Given the description of an element on the screen output the (x, y) to click on. 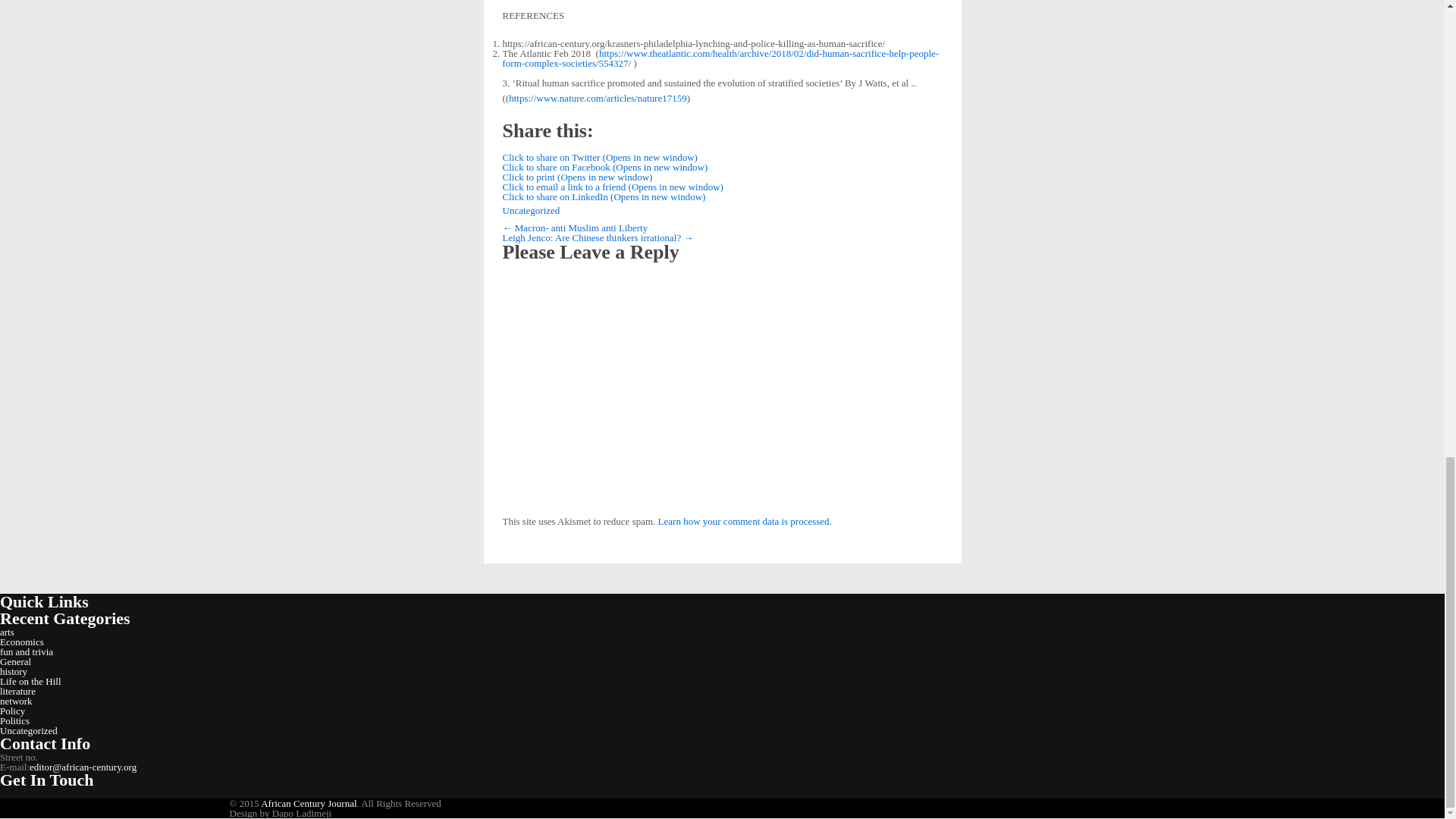
Click to share on Facebook (604, 166)
Comment Form (722, 392)
View all posts in Uncategorized (530, 210)
Click to email a link to a friend (612, 186)
Click to share on Twitter (599, 156)
Click to print (577, 176)
Click to share on LinkedIn (603, 196)
